Given the description of an element on the screen output the (x, y) to click on. 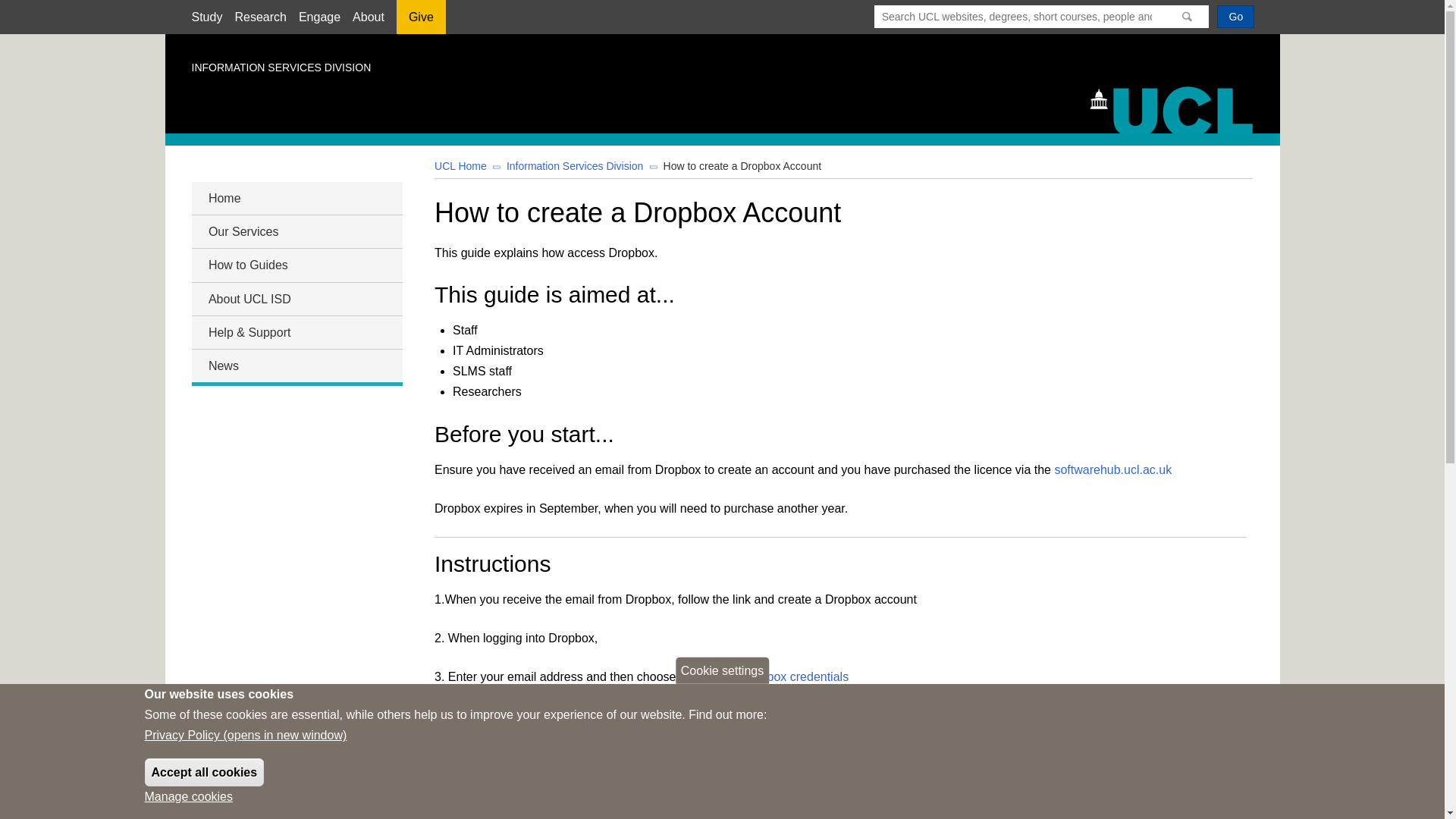
About UCL ISD (296, 299)
Give (420, 22)
Study (206, 16)
Engage (319, 16)
Home (1178, 108)
Research (259, 16)
News (296, 365)
Our Services (296, 231)
UCL Home (459, 165)
Go (1235, 15)
Home (296, 198)
softwarehub.ucl.ac.uk (1113, 469)
Information Services Division (574, 165)
About (368, 16)
Services (296, 231)
